Given the description of an element on the screen output the (x, y) to click on. 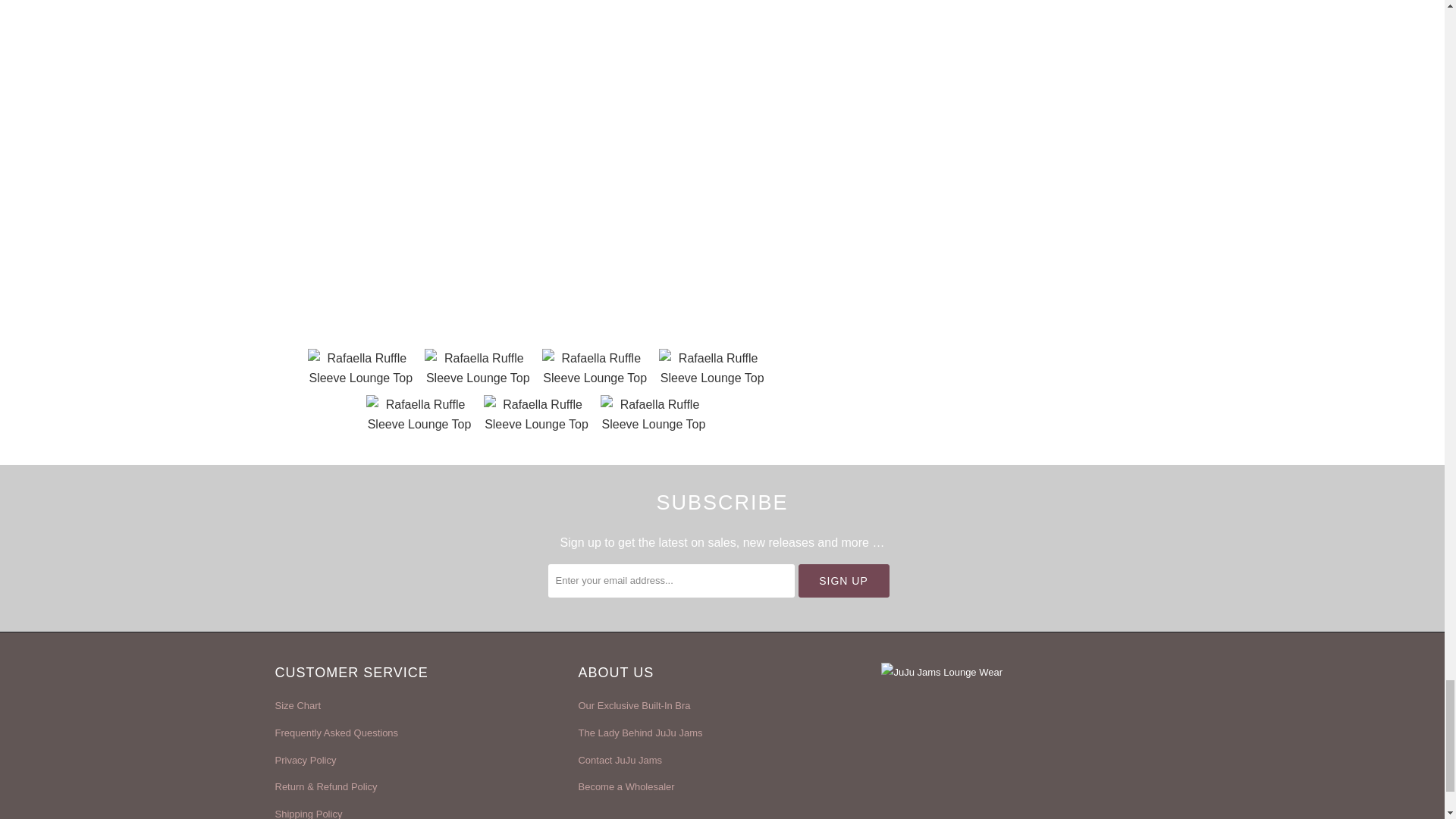
Sign Up (842, 580)
